Given the description of an element on the screen output the (x, y) to click on. 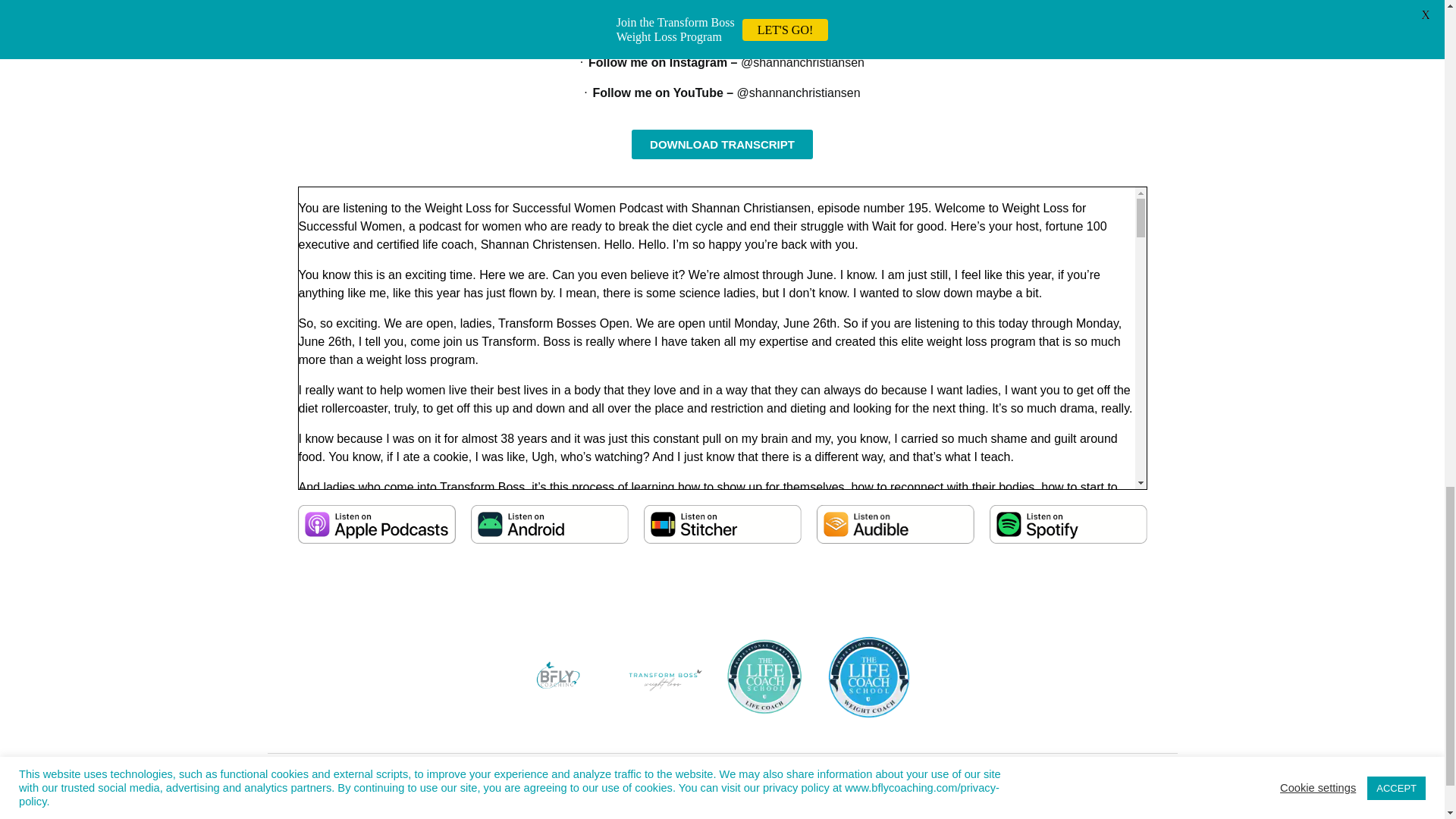
Follow me on Facebook (679, 31)
Follow me on YouTube (657, 92)
DOWNLOAD TRANSCRIPT (721, 143)
Learn more about Transform Boss here. (893, 4)
